Given the description of an element on the screen output the (x, y) to click on. 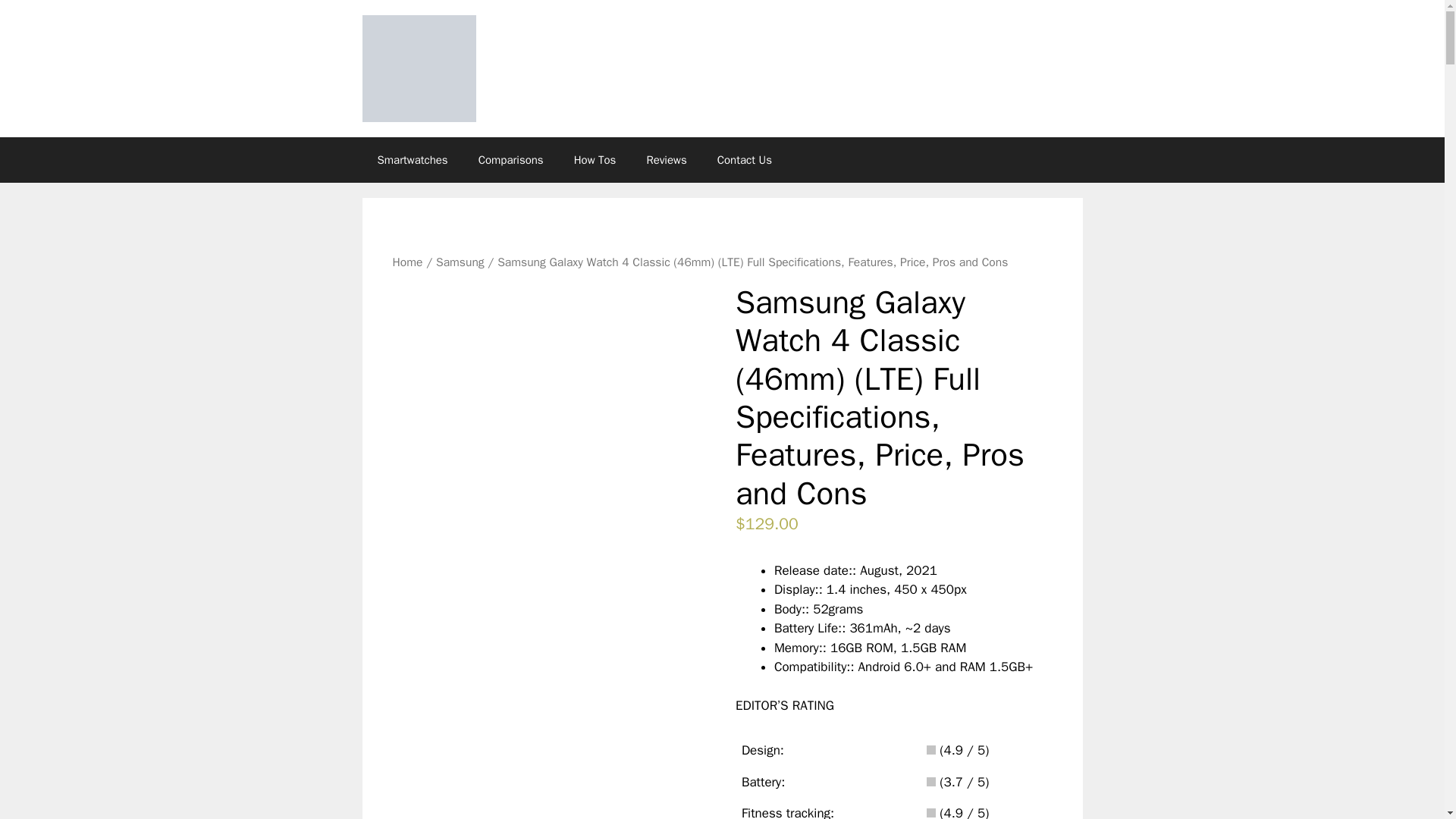
Smartwatches (412, 159)
Home (408, 262)
Comparisons (511, 159)
Contact Us (744, 159)
Reviews (665, 159)
How Tos (595, 159)
Samsung (459, 262)
